Given the description of an element on the screen output the (x, y) to click on. 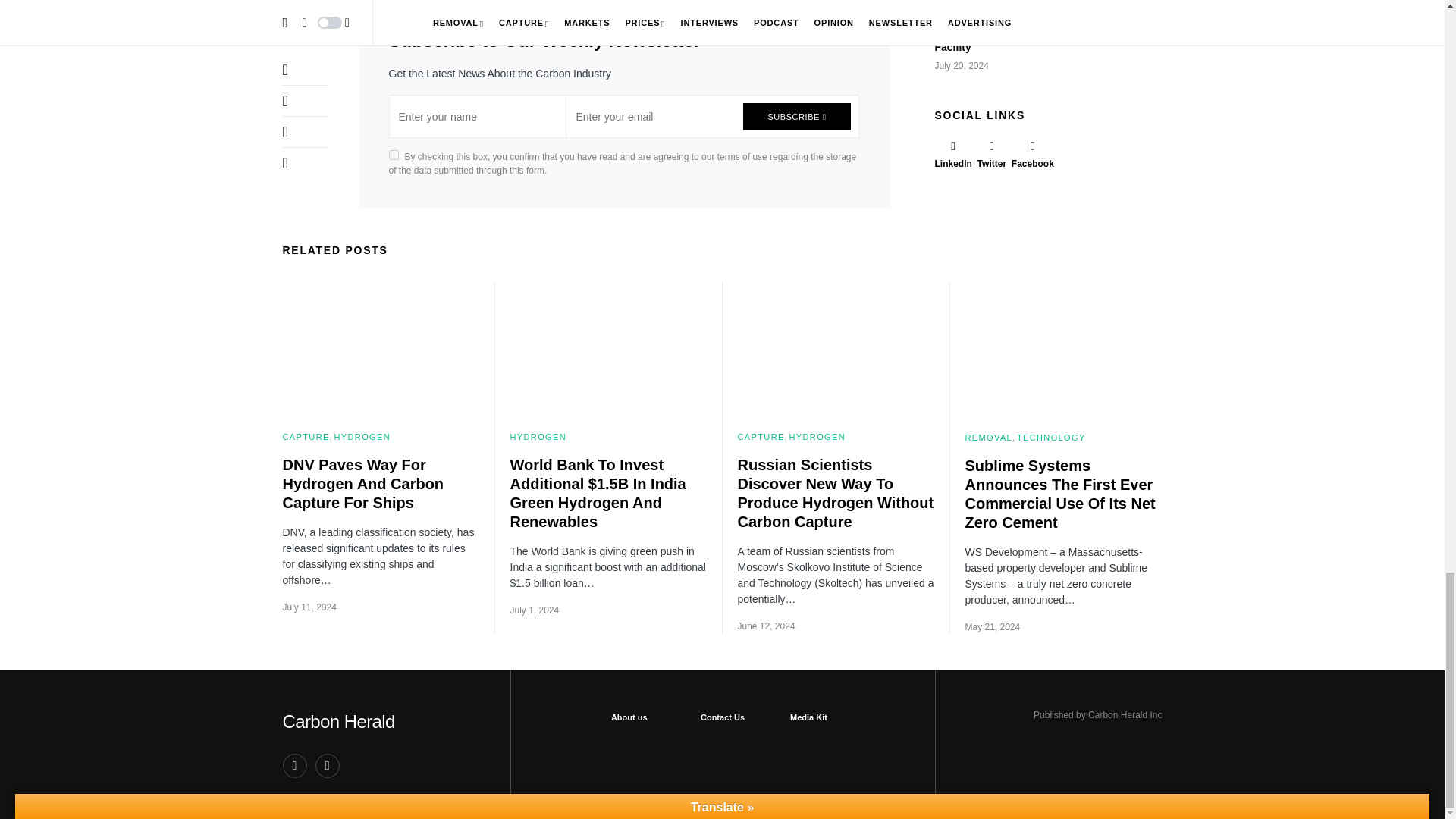
on (392, 154)
